Given the description of an element on the screen output the (x, y) to click on. 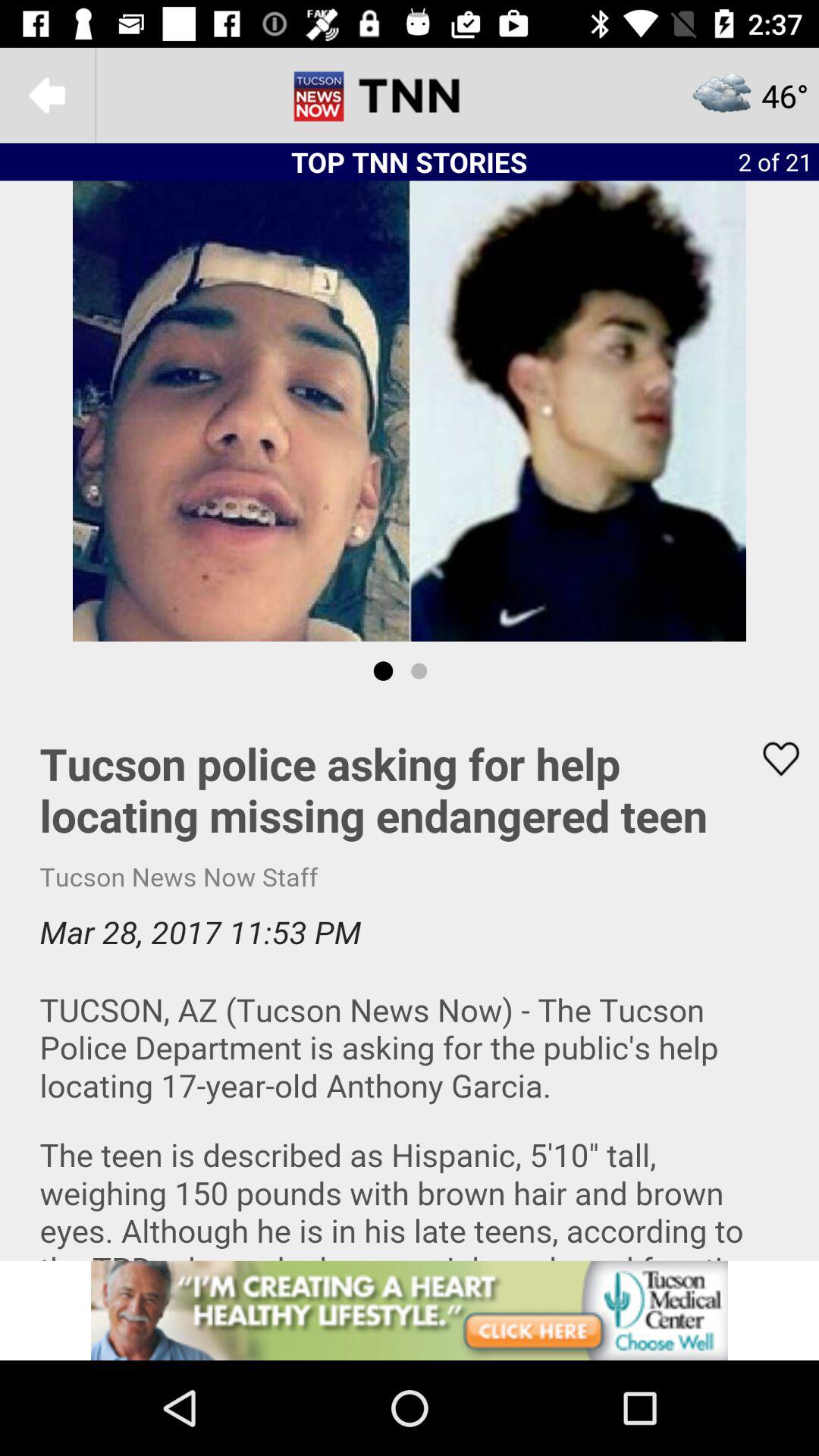
go to page (47, 95)
